Given the description of an element on the screen output the (x, y) to click on. 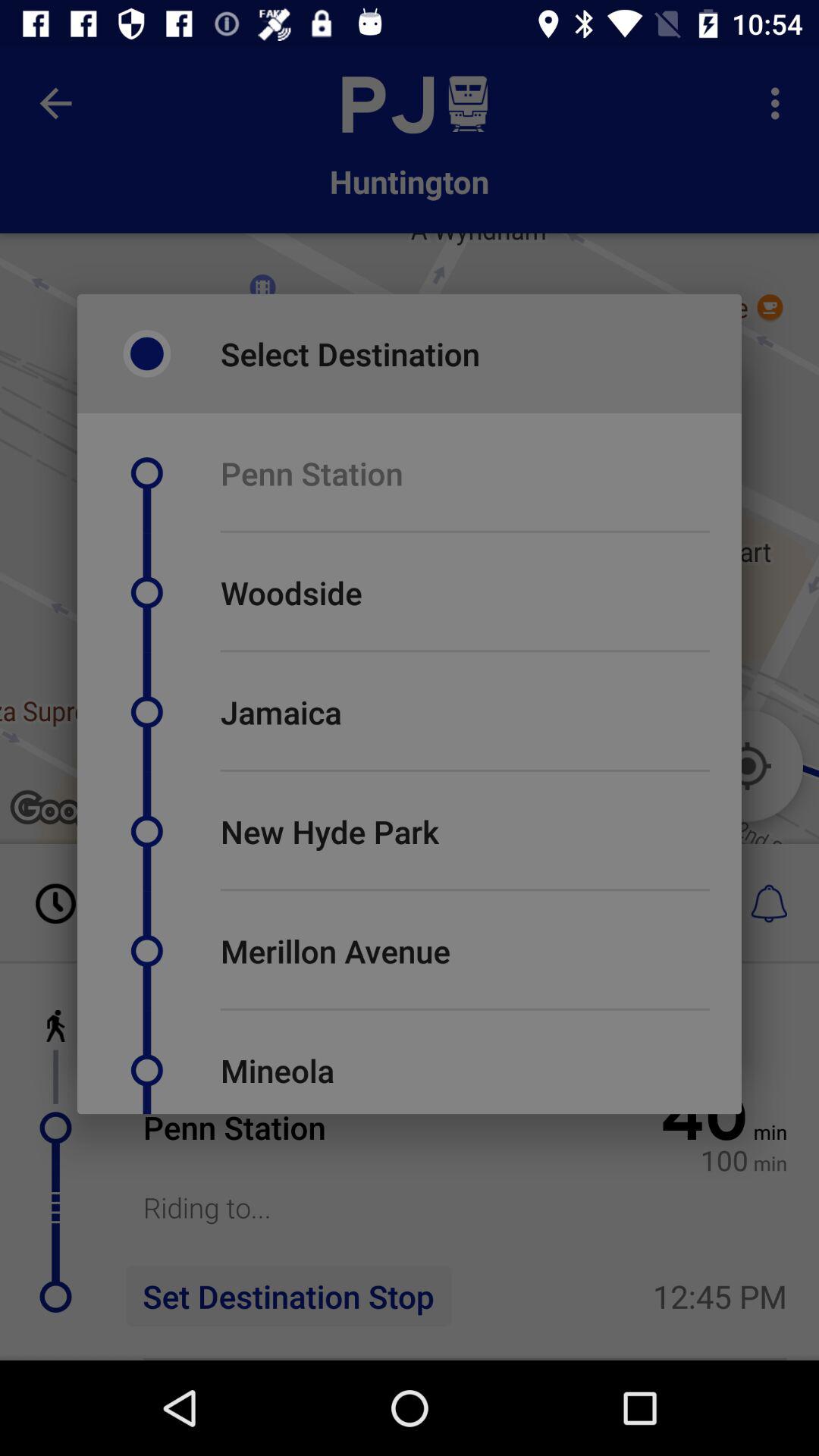
turn off the new hyde park (329, 831)
